Given the description of an element on the screen output the (x, y) to click on. 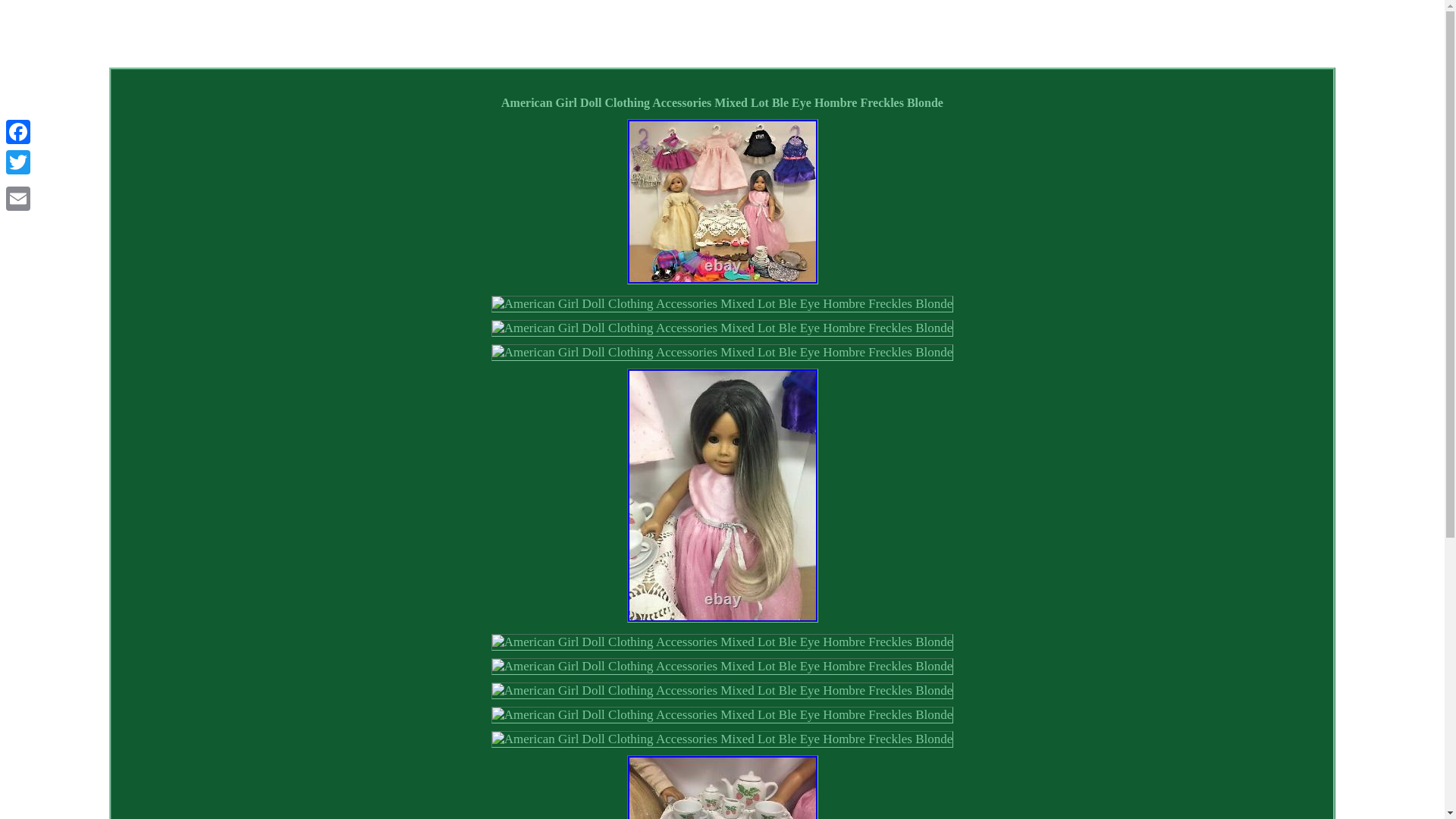
Facebook (17, 132)
Twitter (17, 162)
